Given the description of an element on the screen output the (x, y) to click on. 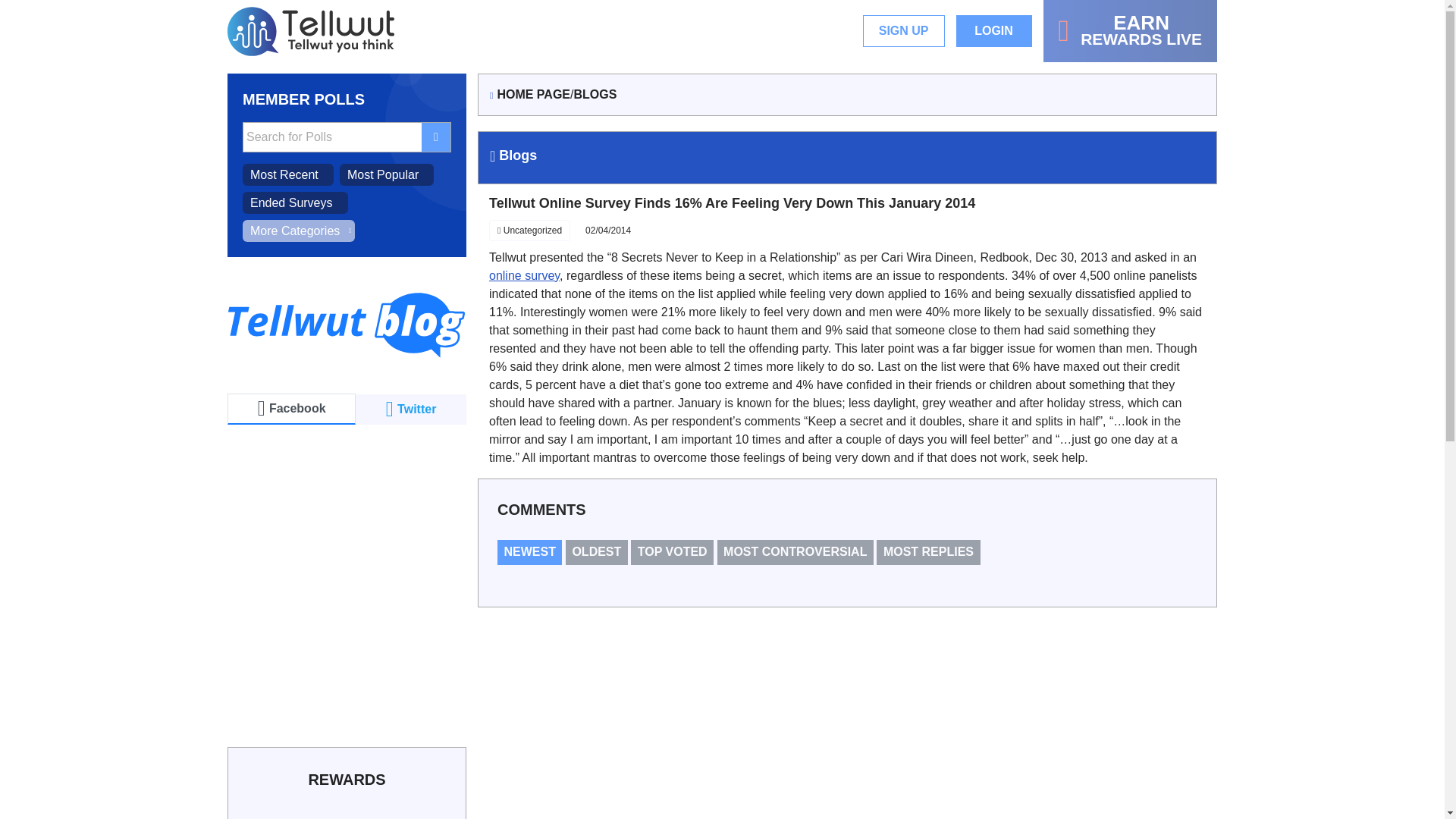
More Categories (299, 230)
LOGIN (994, 30)
Most Popular (386, 174)
Most Recent (288, 174)
SIGN UP (1130, 31)
Ended Surveys (903, 30)
